Given the description of an element on the screen output the (x, y) to click on. 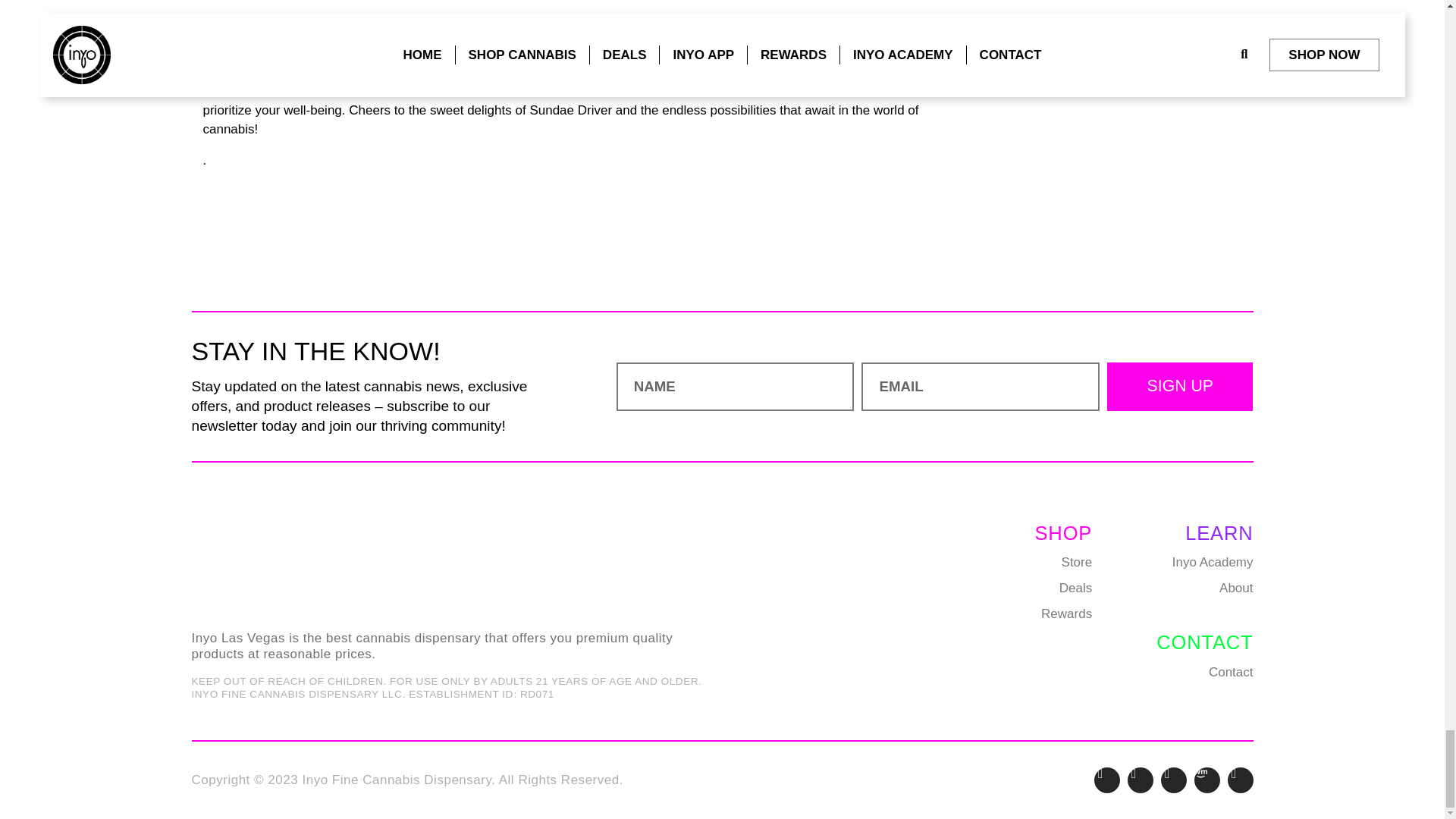
SIGN UP (1179, 386)
Deals (1043, 587)
Store (1043, 562)
Rewards (1043, 613)
